Given the description of an element on the screen output the (x, y) to click on. 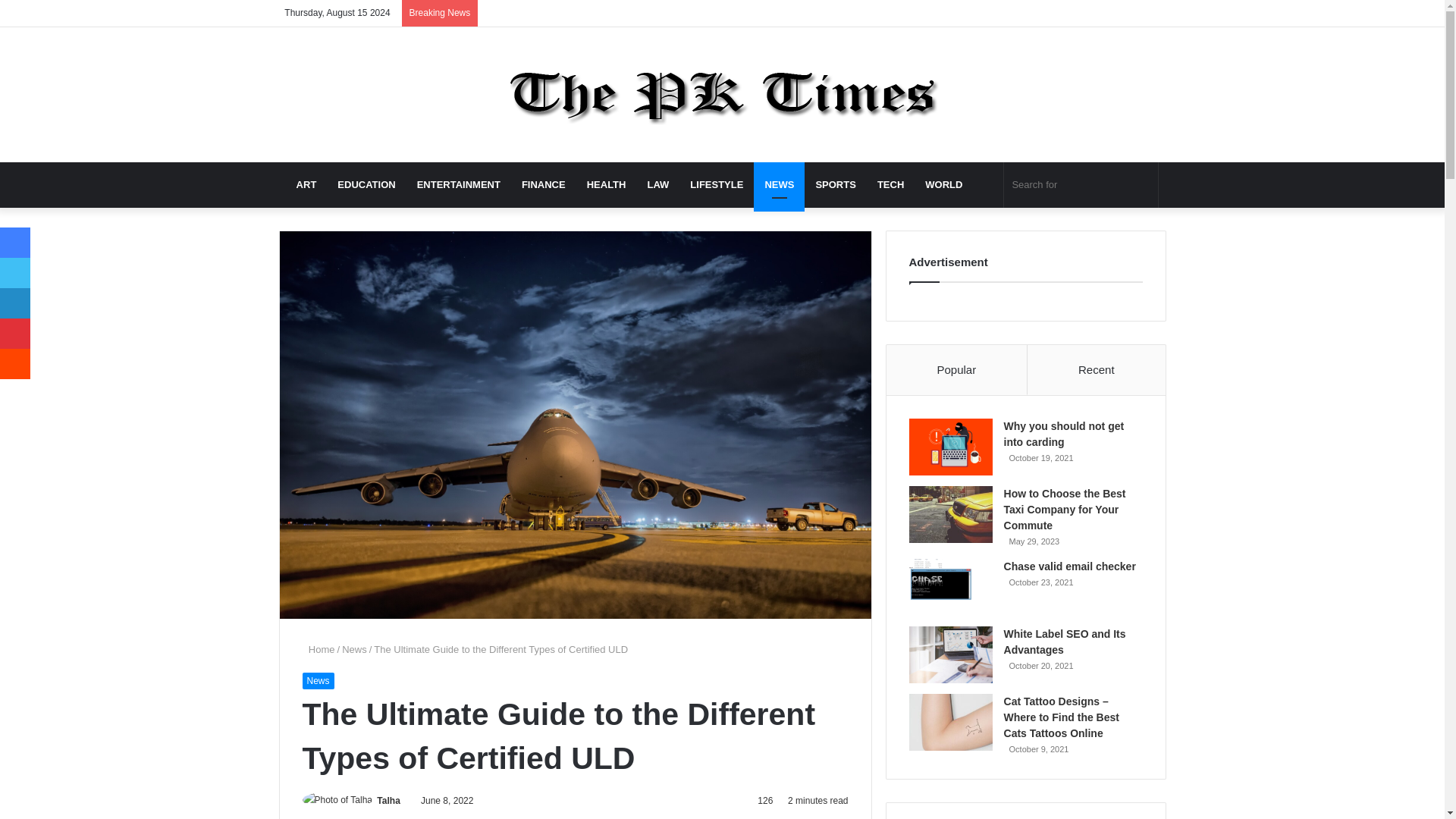
HEALTH (606, 185)
NEWS (779, 185)
TECH (890, 185)
LAW (657, 185)
LIFESTYLE (716, 185)
SPORTS (835, 185)
The PK Times (722, 94)
FINANCE (543, 185)
News (317, 680)
News (354, 649)
